Given the description of an element on the screen output the (x, y) to click on. 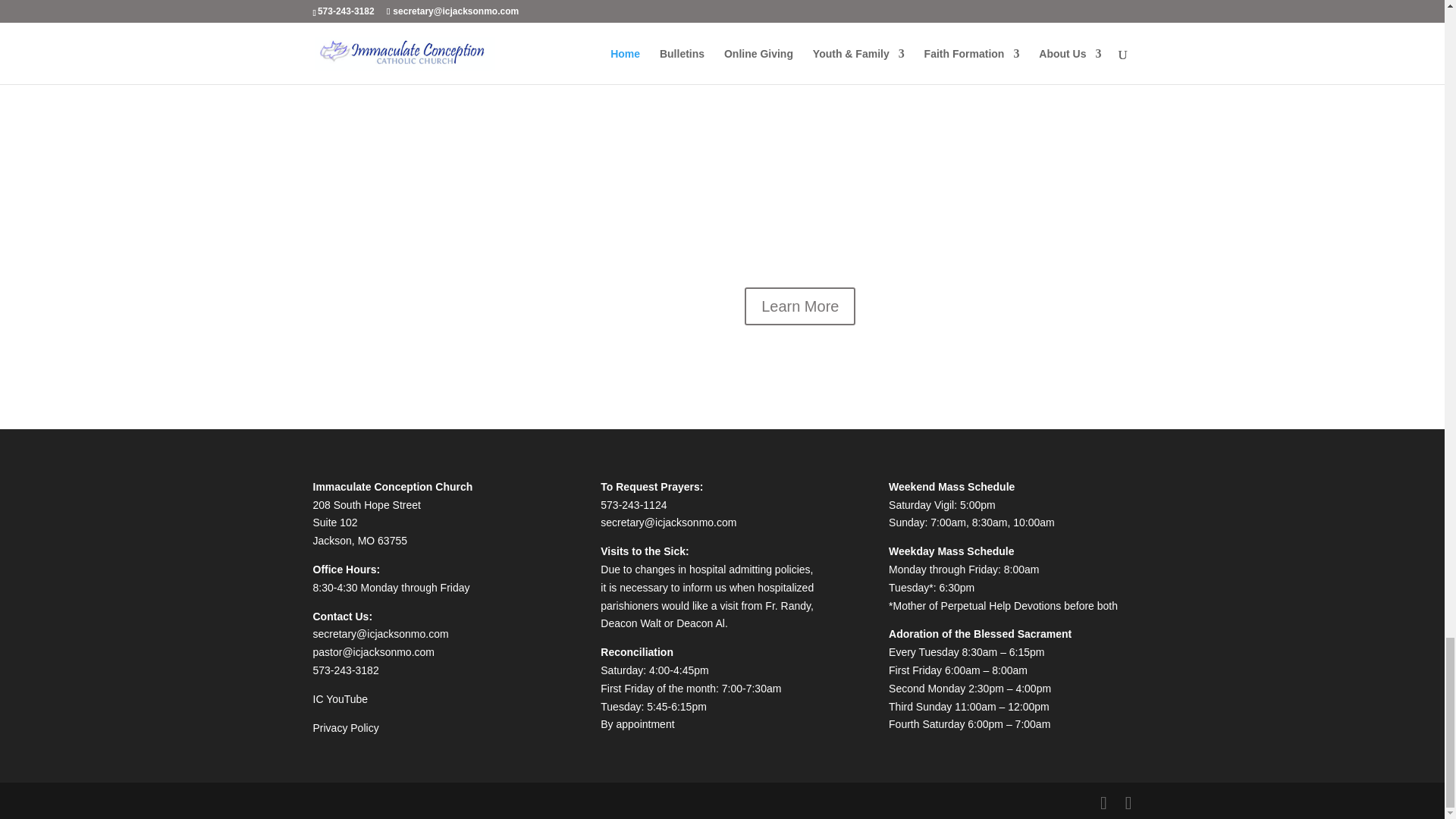
Privacy Policy (345, 727)
